Given the description of an element on the screen output the (x, y) to click on. 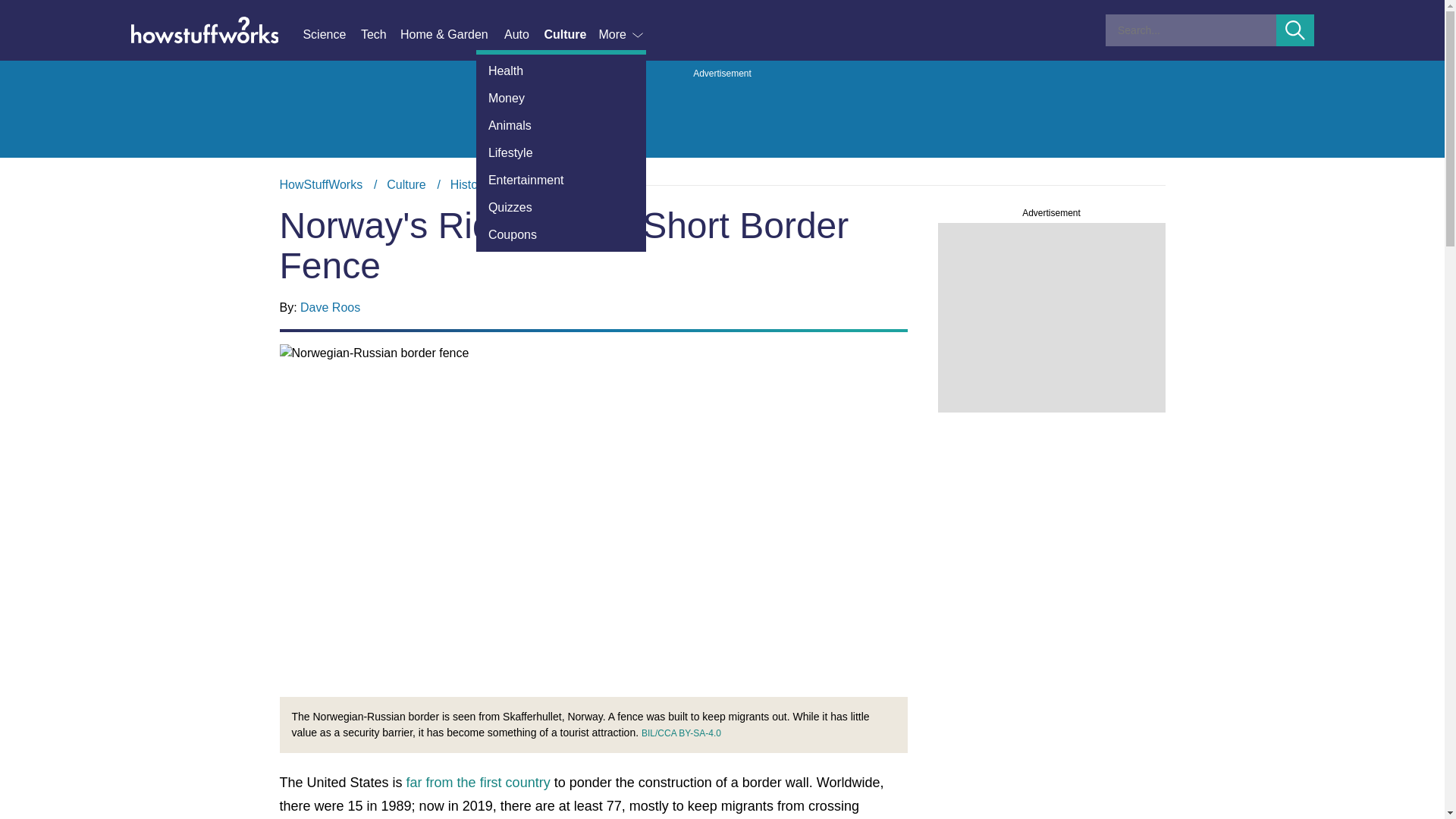
Dave Roos (329, 307)
Coupons (561, 234)
More (621, 34)
Culture (406, 184)
Entertainment (561, 180)
Submit Search (1295, 29)
Tech (721, 185)
Quizzes (380, 34)
History (561, 207)
